Given the description of an element on the screen output the (x, y) to click on. 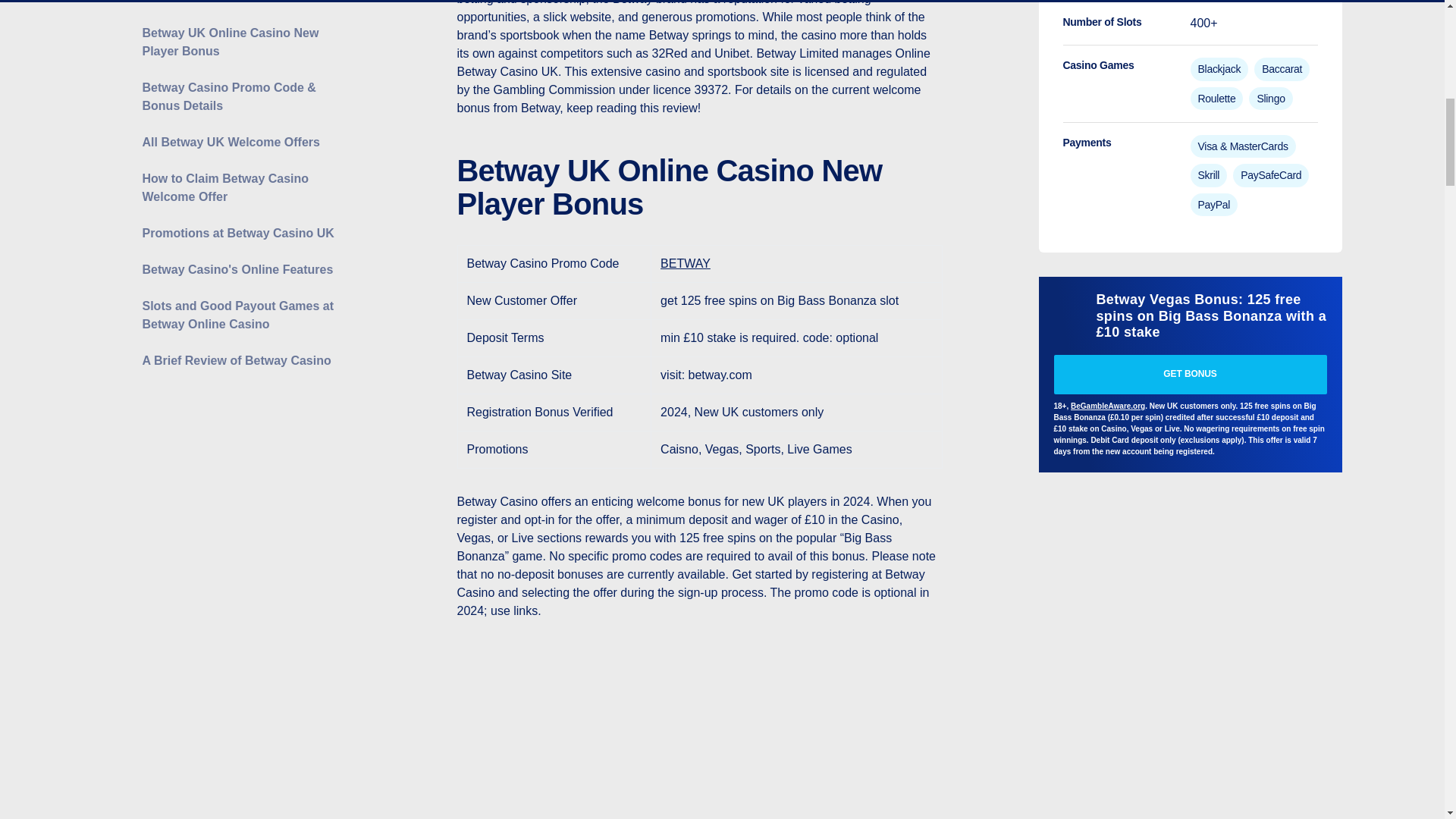
How to Claim Betway Casino Welcome Offer (241, 2)
BetWay-Casino-Bonus-Code-and-Welcome-Offer - aGamble.com (699, 731)
Slots and Good Payout Games at Betway Online Casino (241, 115)
A Brief Review of Betway Casino (241, 160)
Promotions at Betway Casino UK (241, 33)
Betway Casino's Online Features (241, 69)
Betway UK Casino - aGamble.com (1072, 309)
BETWAY (685, 263)
